Given the description of an element on the screen output the (x, y) to click on. 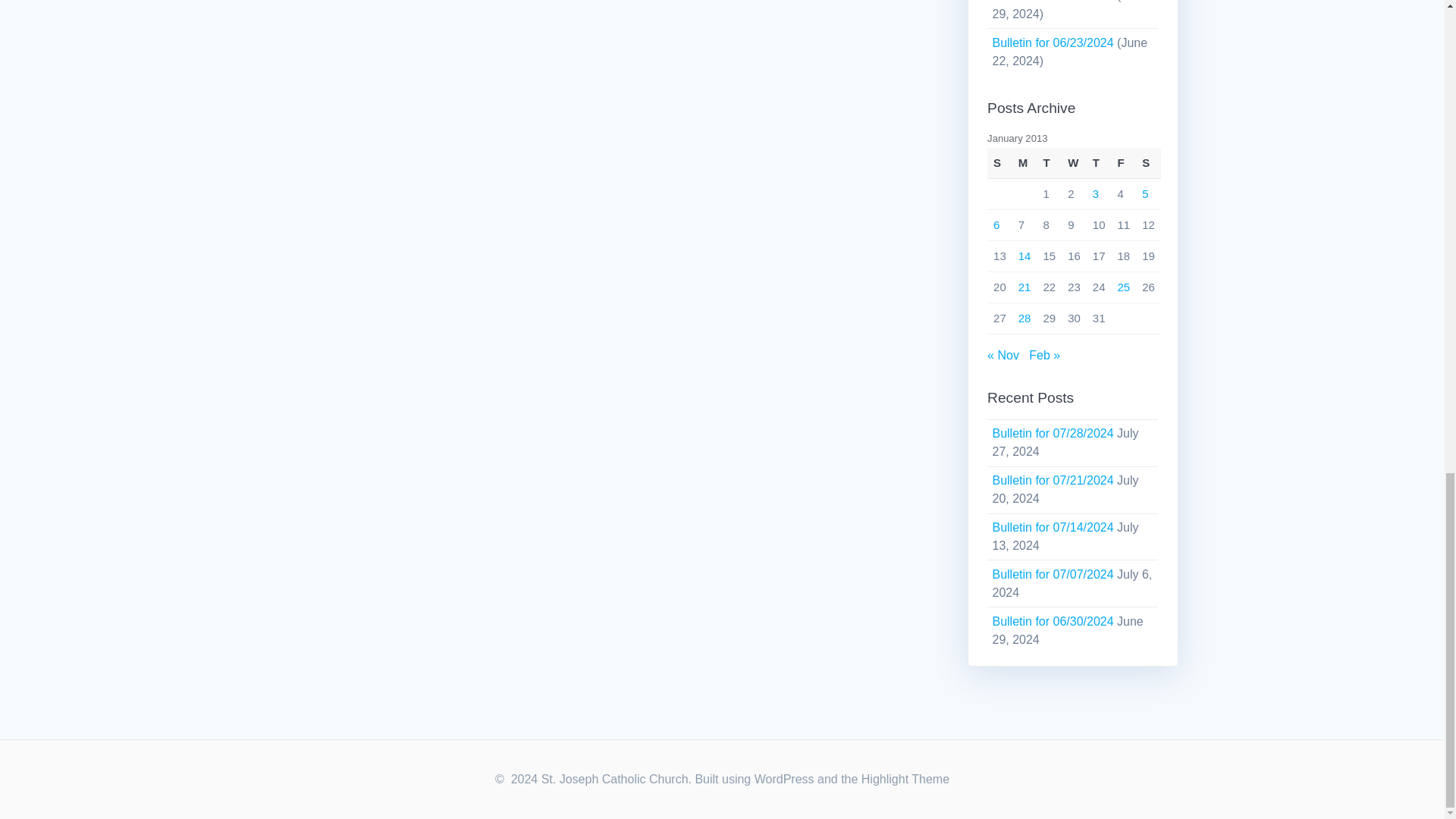
21 (1023, 286)
14 (1023, 255)
25 (1124, 286)
